Given the description of an element on the screen output the (x, y) to click on. 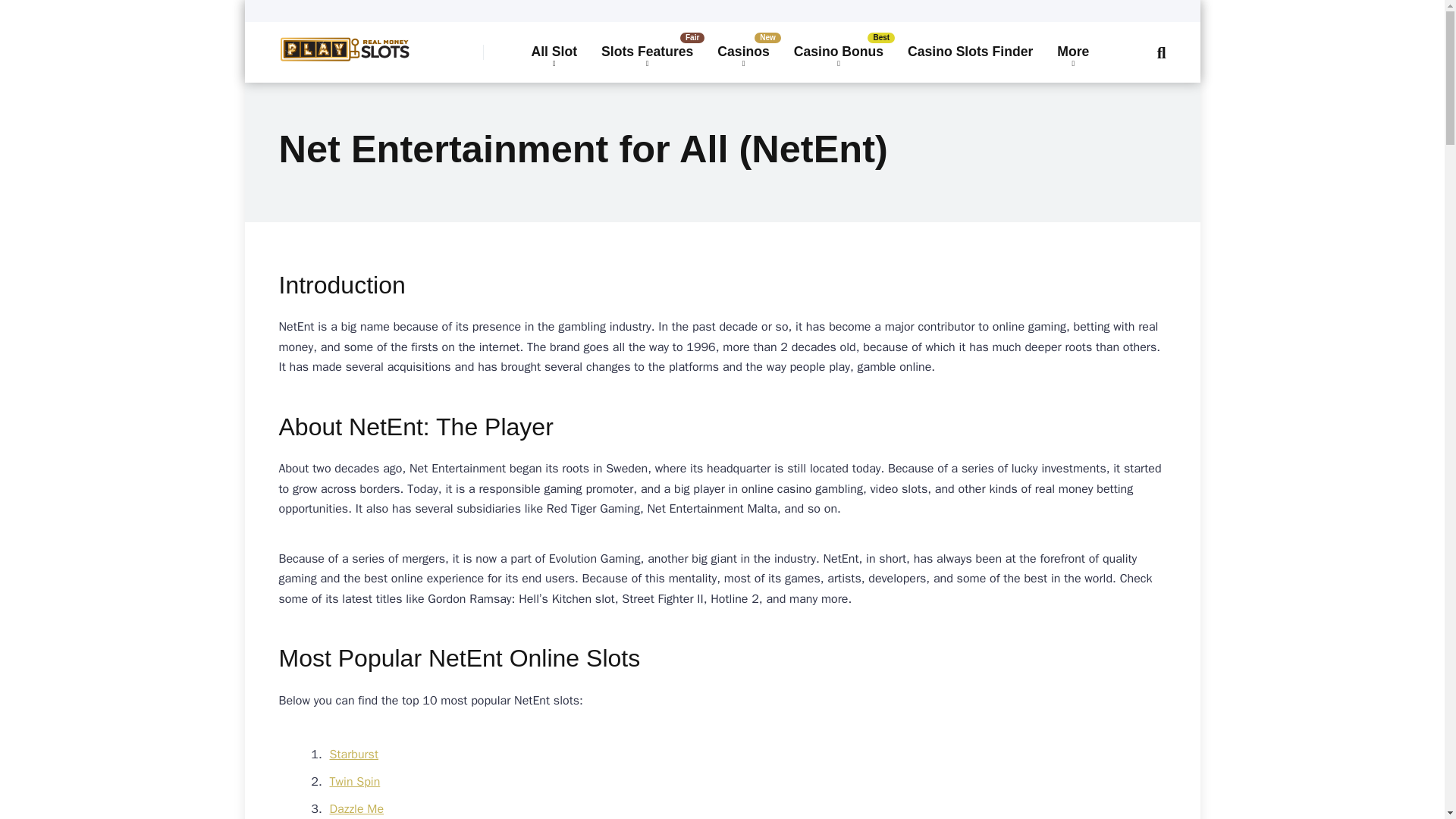
All Slot (553, 53)
Play Real Money Slots (344, 43)
